Given the description of an element on the screen output the (x, y) to click on. 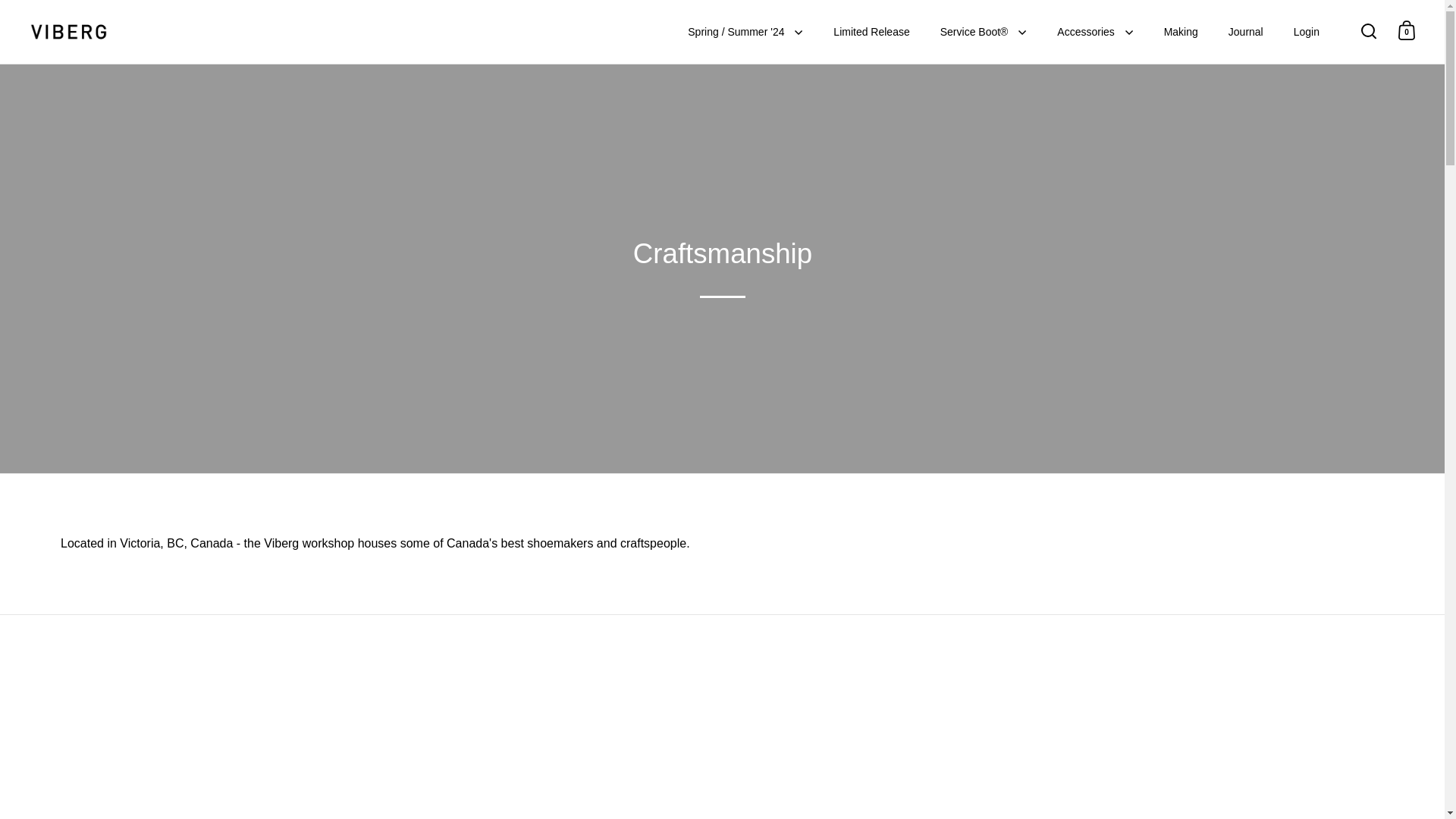
Accessories (1095, 31)
Journal (1245, 31)
Open search (1369, 30)
Limited Release (871, 31)
Login (1306, 31)
Open cart (1406, 30)
Making (1180, 31)
